Given the description of an element on the screen output the (x, y) to click on. 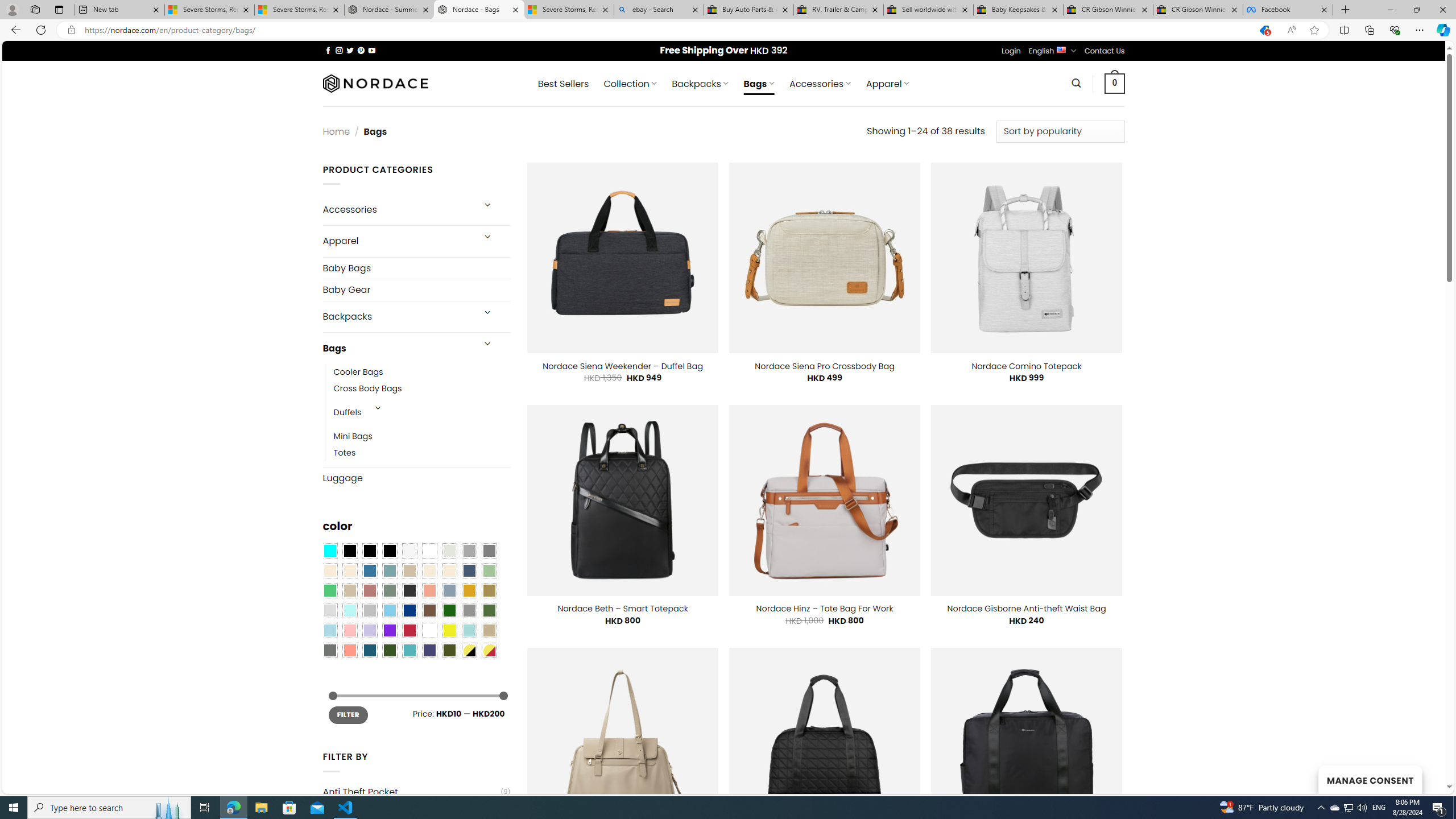
Khaki (488, 630)
Black (369, 550)
Dark Gray (468, 550)
Baby Gear (416, 289)
Navy Blue (408, 610)
Light Blue (329, 630)
White (429, 630)
Army Green (449, 649)
Hale Navy (468, 570)
Mint (349, 610)
Baby Gear (416, 289)
Light Purple (369, 630)
Silver (369, 610)
